Given the description of an element on the screen output the (x, y) to click on. 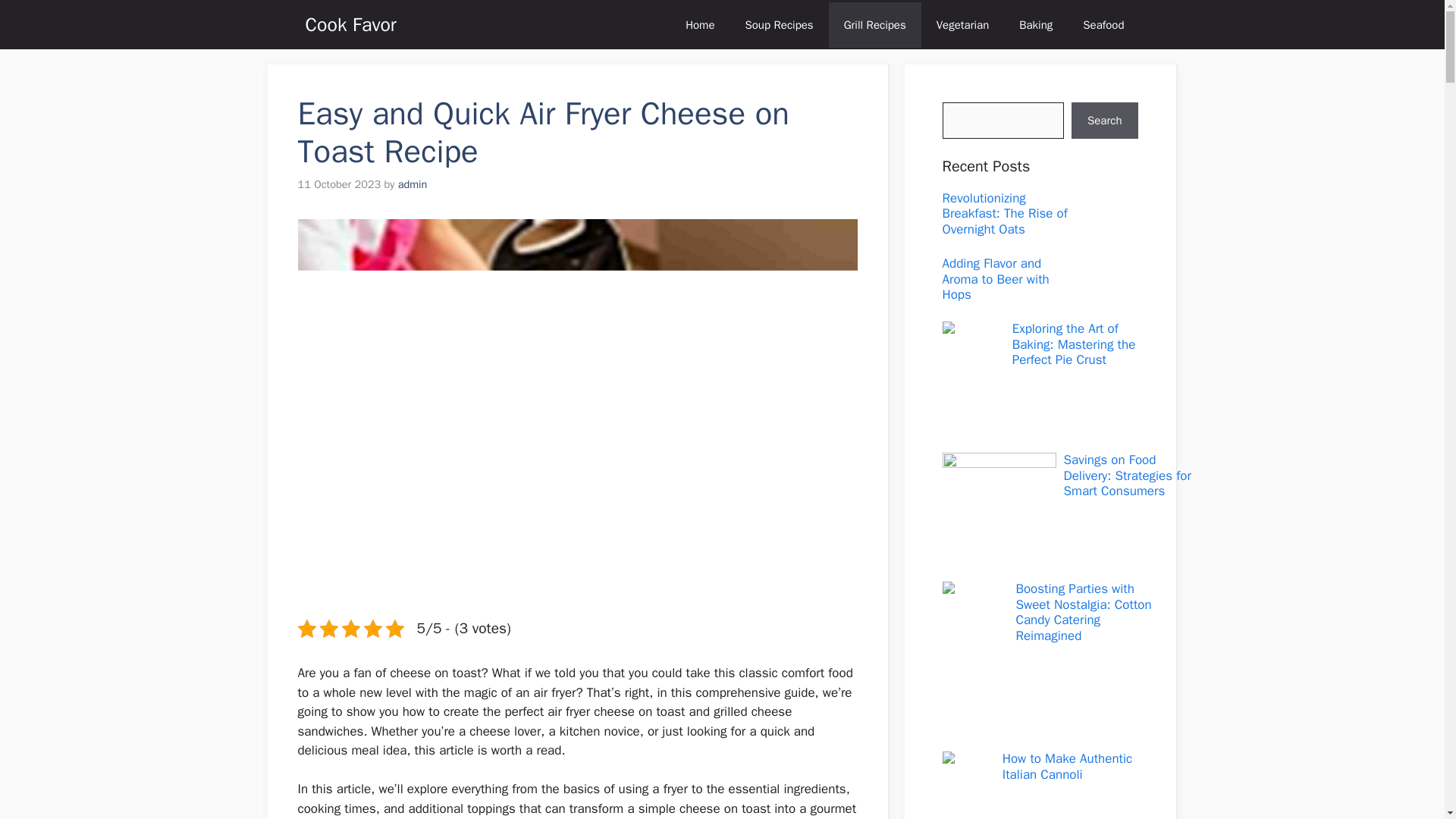
Vegetarian (962, 23)
View all posts by admin (412, 183)
Seafood (1102, 23)
Soup Recipes (778, 23)
Cook Favor (350, 24)
admin (412, 183)
Grill Recipes (874, 23)
Baking (1035, 23)
Home (699, 23)
